Given the description of an element on the screen output the (x, y) to click on. 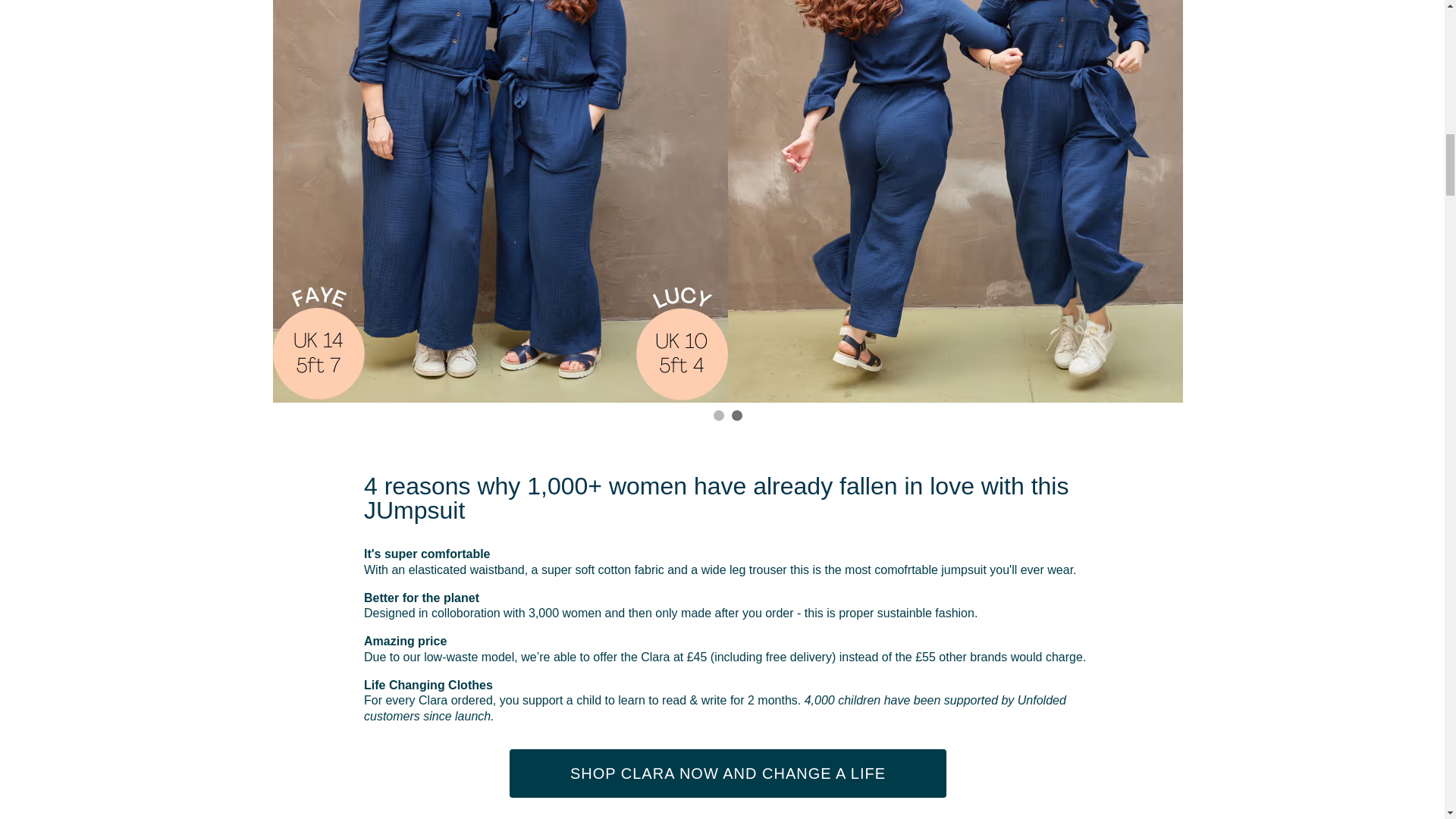
SHOP CLARA NOW AND CHANGE A LIFE (727, 773)
